Given the description of an element on the screen output the (x, y) to click on. 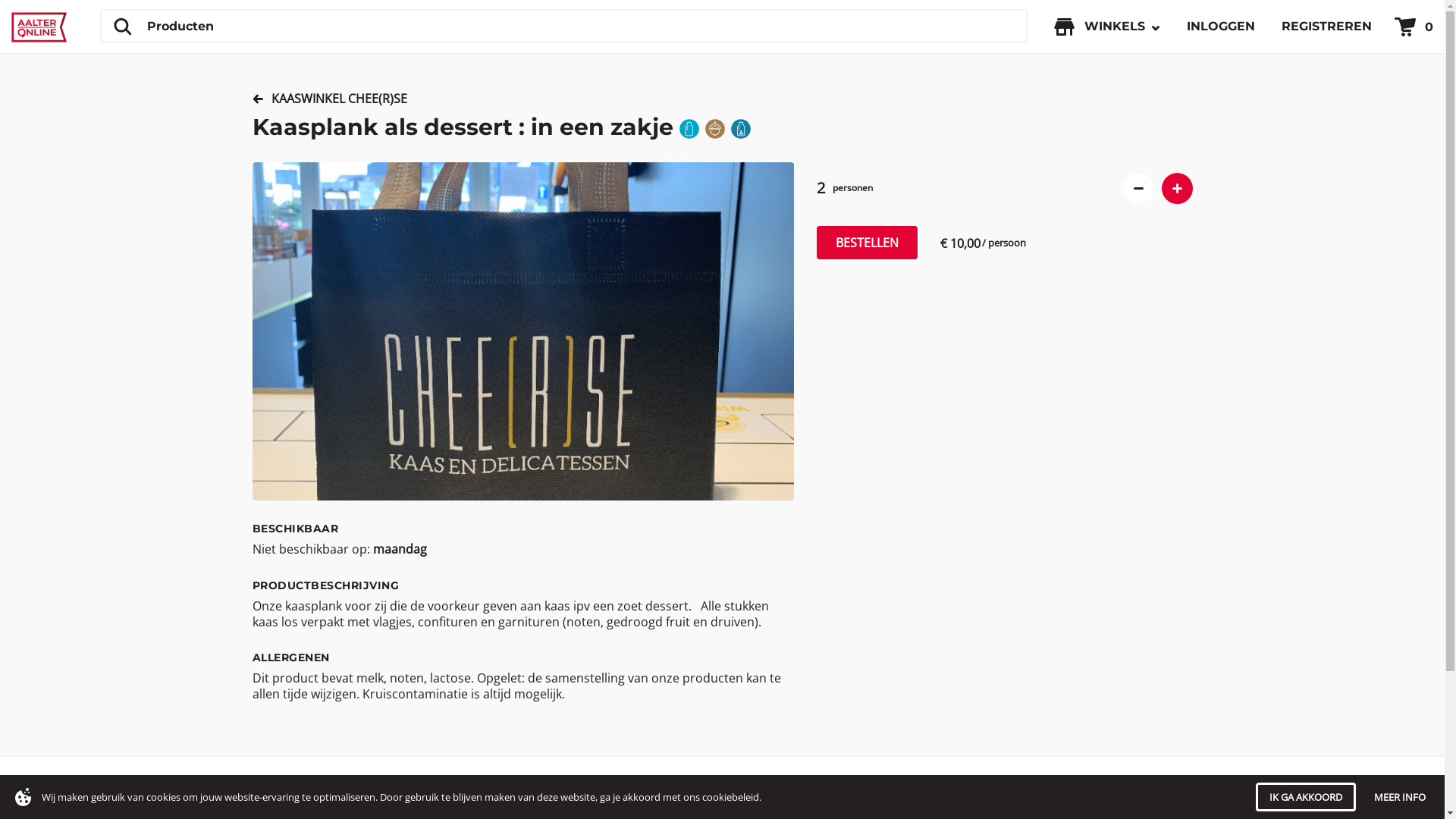
INLOGGEN Element type: text (1220, 26)
WINKELS Element type: text (1101, 26)
REGISTREREN Element type: text (1326, 26)
KAASWINKEL CHEE(R)SE Element type: text (332, 98)
MEER INFO Element type: text (1399, 796)
BESTELLEN Element type: text (865, 242)
IK GA AKKOORD Element type: text (1305, 796)
